Given the description of an element on the screen output the (x, y) to click on. 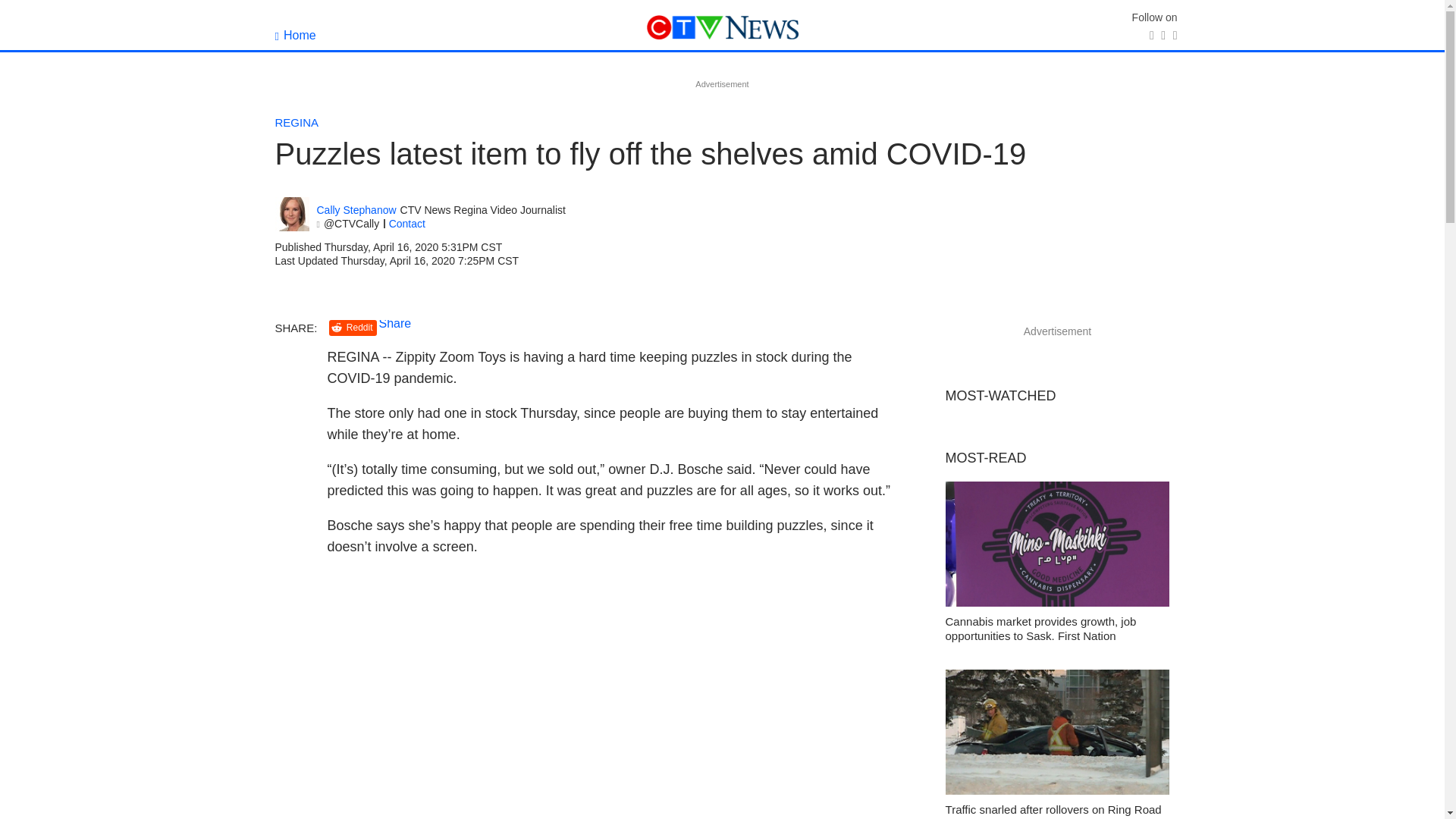
Share (395, 323)
Home (295, 34)
Reddit (353, 327)
REGINA (296, 122)
Cally Stephanow (291, 213)
Cally Stephanow (356, 210)
Contact (406, 223)
